Given the description of an element on the screen output the (x, y) to click on. 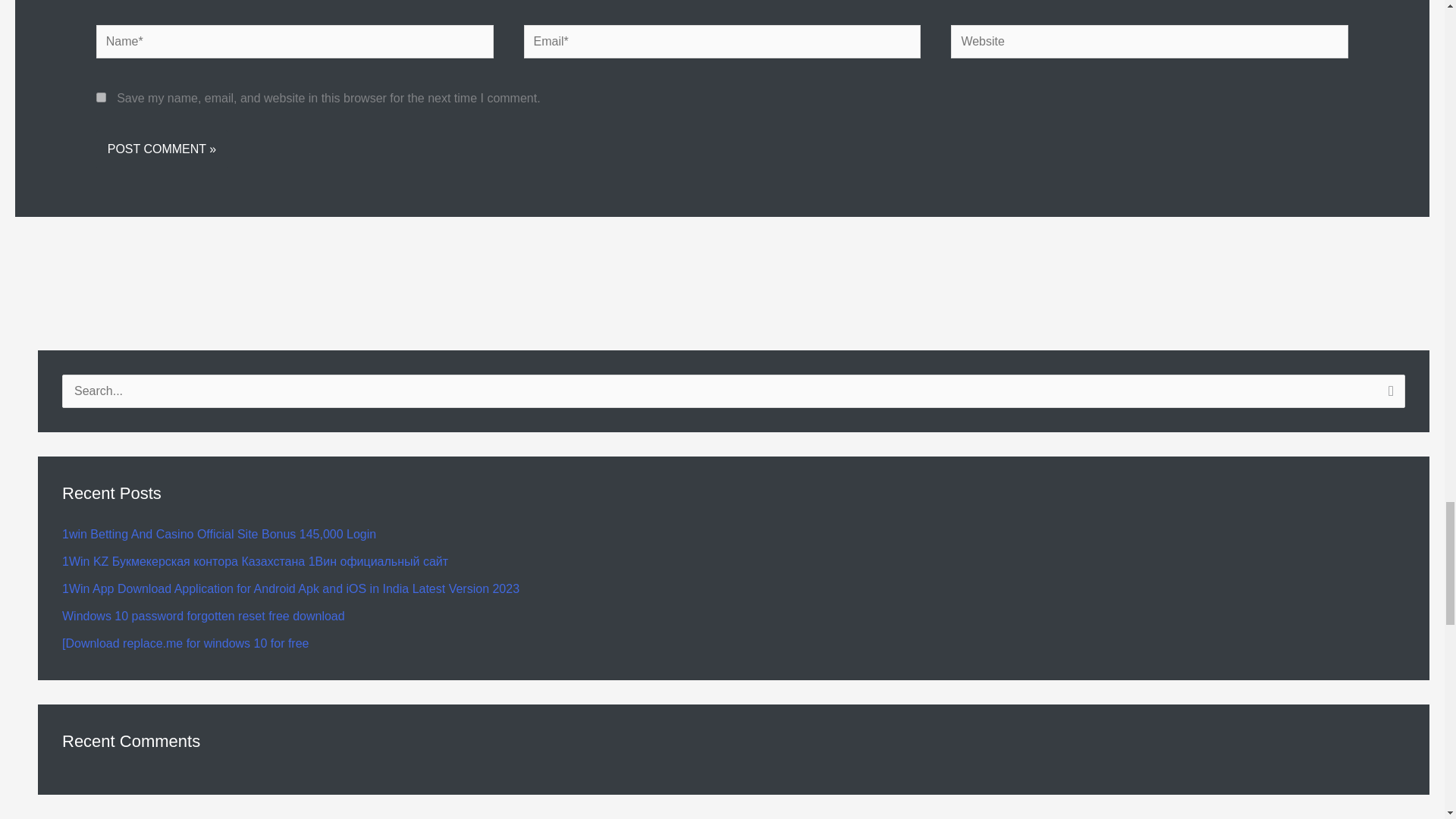
1win Betting And Casino Official Site Bonus 145,000 Login (218, 533)
Windows 10 password forgotten reset free download (203, 615)
yes (101, 97)
